Given the description of an element on the screen output the (x, y) to click on. 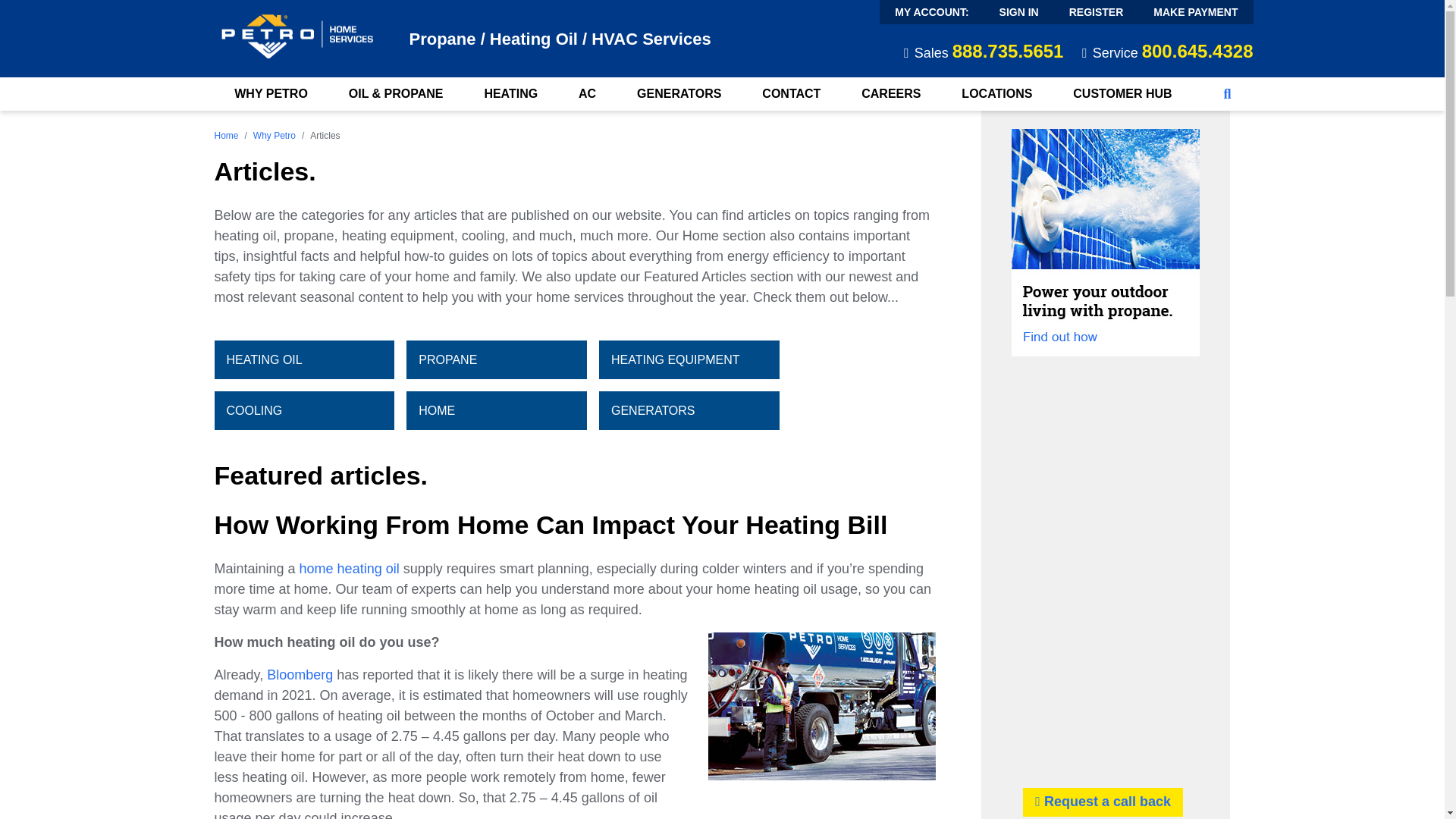
888.735.5651 (1008, 51)
REGISTER (1096, 12)
SIGN IN (1019, 12)
MAKE PAYMENT (1195, 12)
800.645.4328 (1197, 51)
WHY PETRO (270, 93)
